Given the description of an element on the screen output the (x, y) to click on. 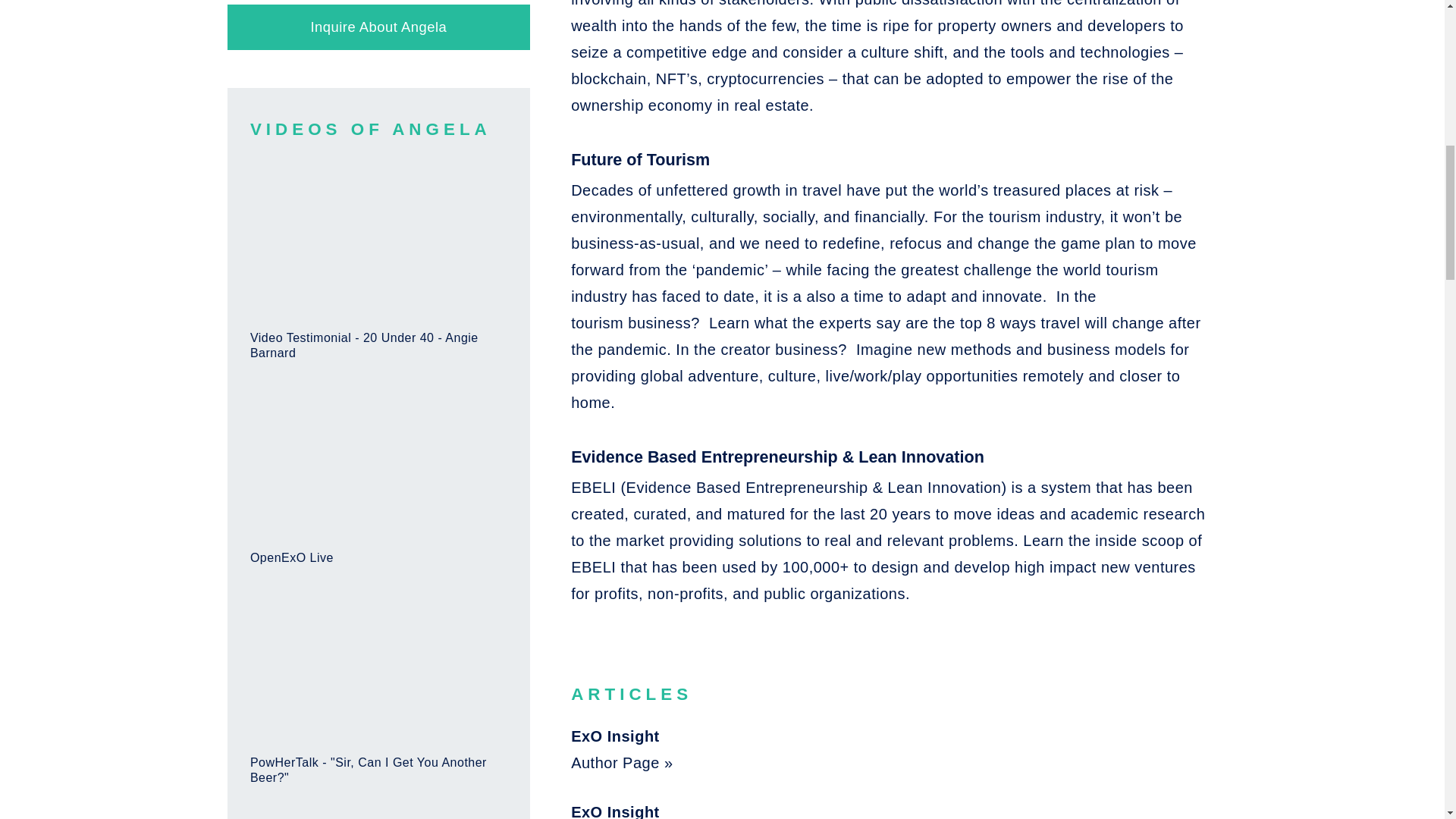
OpenExO Live (378, 478)
SOHO Nanaimo highlights (378, 817)
PowHerTalk - "Sir, Can I Get You Another Beer?" (378, 690)
Video Testimonial - 20 Under 40 - Angie Barnard (378, 266)
Inquire About Angela (378, 26)
